Given the description of an element on the screen output the (x, y) to click on. 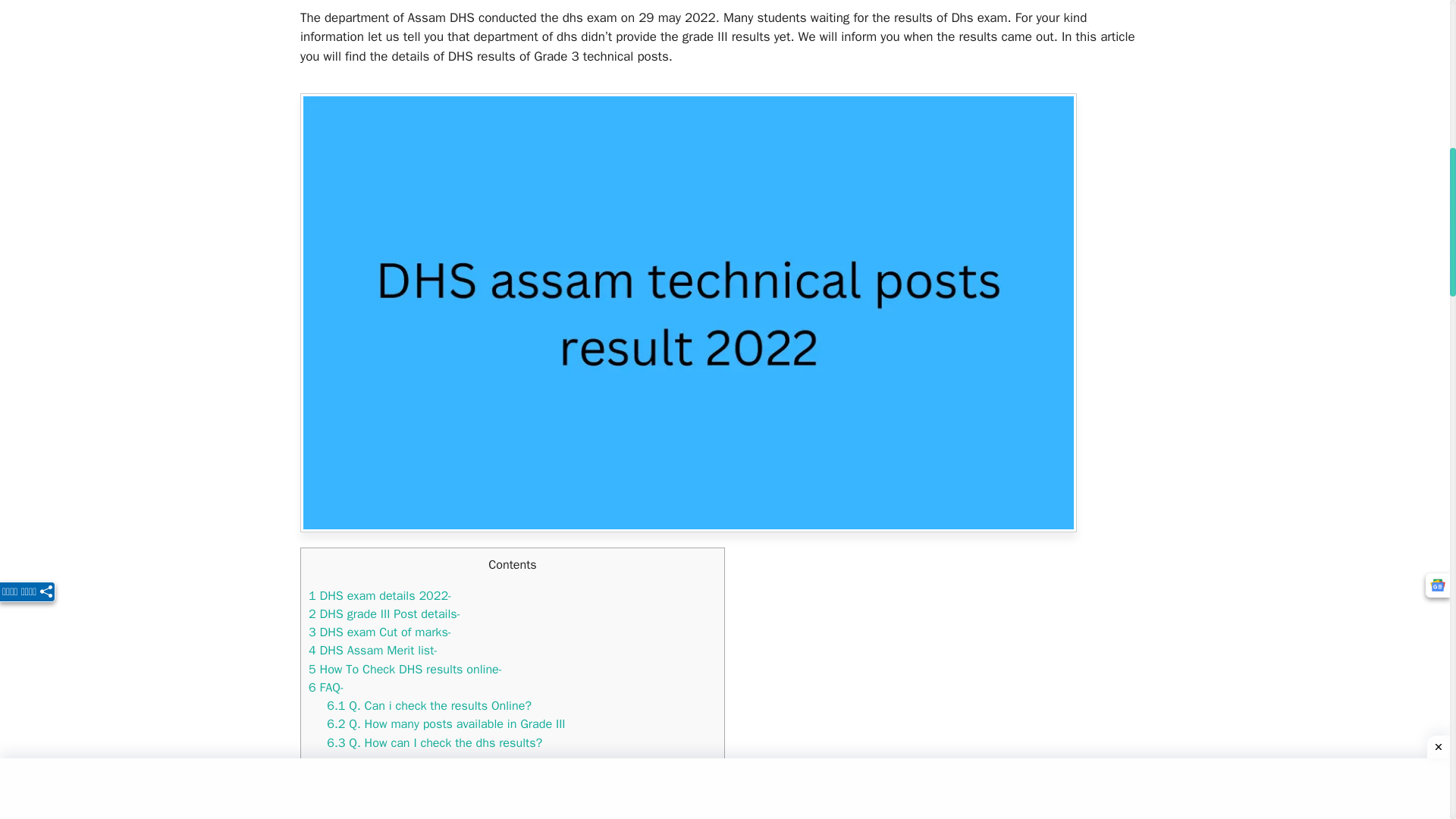
6.3 Q. How can I check the dhs results? (433, 742)
6 FAQ- (325, 687)
2 DHS grade III Post details- (384, 613)
4 DHS Assam Merit list- (373, 650)
3 DHS exam Cut of marks- (379, 631)
1 DHS exam details 2022- (379, 595)
5 How To Check DHS results online- (405, 668)
6.2 Q. How many posts available in Grade III (445, 723)
6.1 Q. Can i check the results Online? (428, 705)
